Given the description of an element on the screen output the (x, y) to click on. 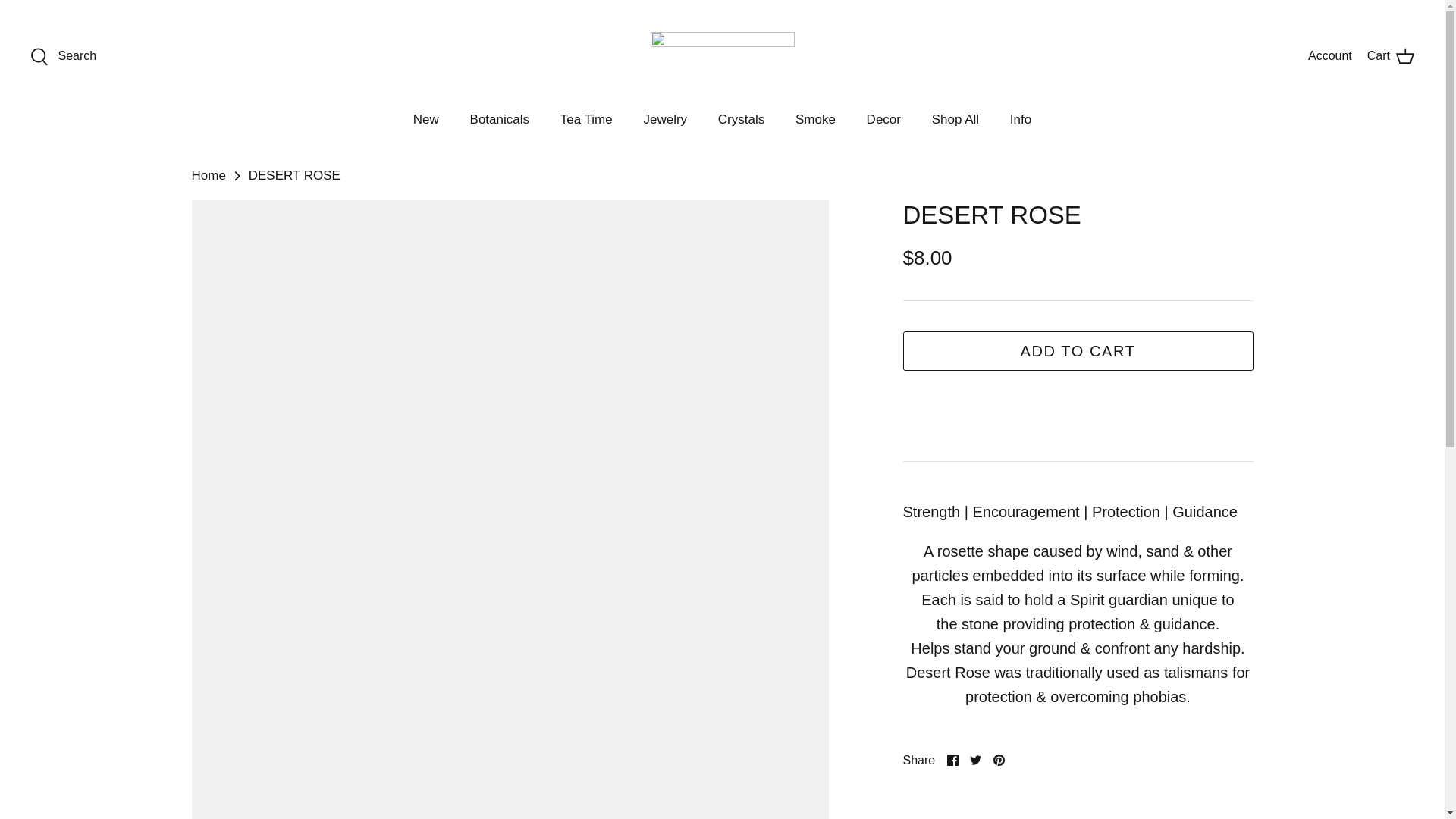
Twitter (998, 759)
Jewelry (975, 759)
Search (664, 119)
Cart (63, 55)
Tea Time (1390, 55)
Crystals (975, 759)
DESERT ROSE (586, 119)
Decor (740, 119)
